Given the description of an element on the screen output the (x, y) to click on. 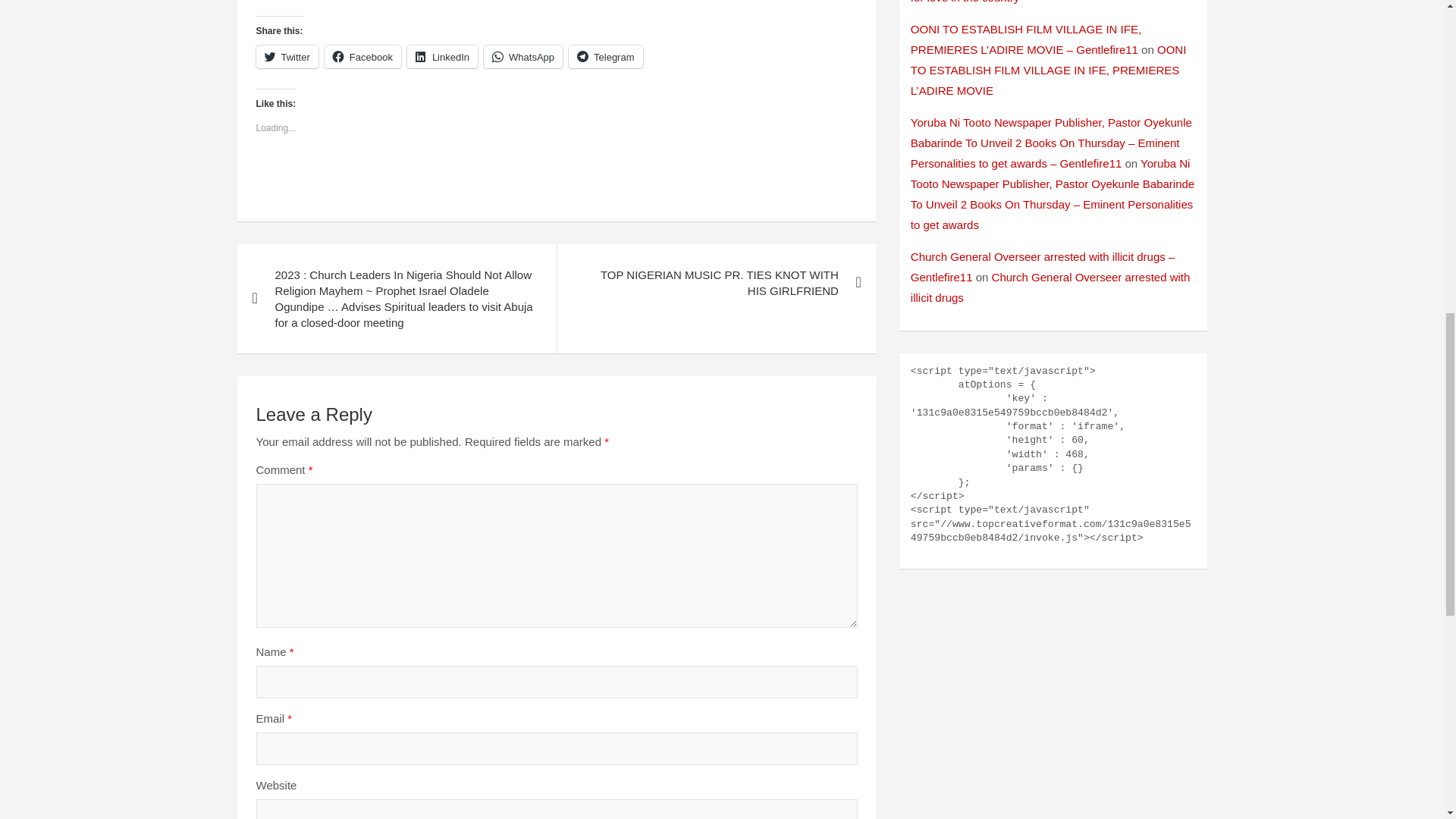
WhatsApp (522, 56)
Click to share on WhatsApp (522, 56)
Click to share on Facebook (362, 56)
Twitter (287, 56)
Facebook (362, 56)
TOP NIGERIAN MUSIC PR. TIES KNOT WITH HIS GIRLFRIEND (716, 282)
Click to share on LinkedIn (442, 56)
Like or Reblog (556, 181)
Click to share on Twitter (287, 56)
LinkedIn (442, 56)
Click to share on Telegram (605, 56)
Telegram (605, 56)
